Given the description of an element on the screen output the (x, y) to click on. 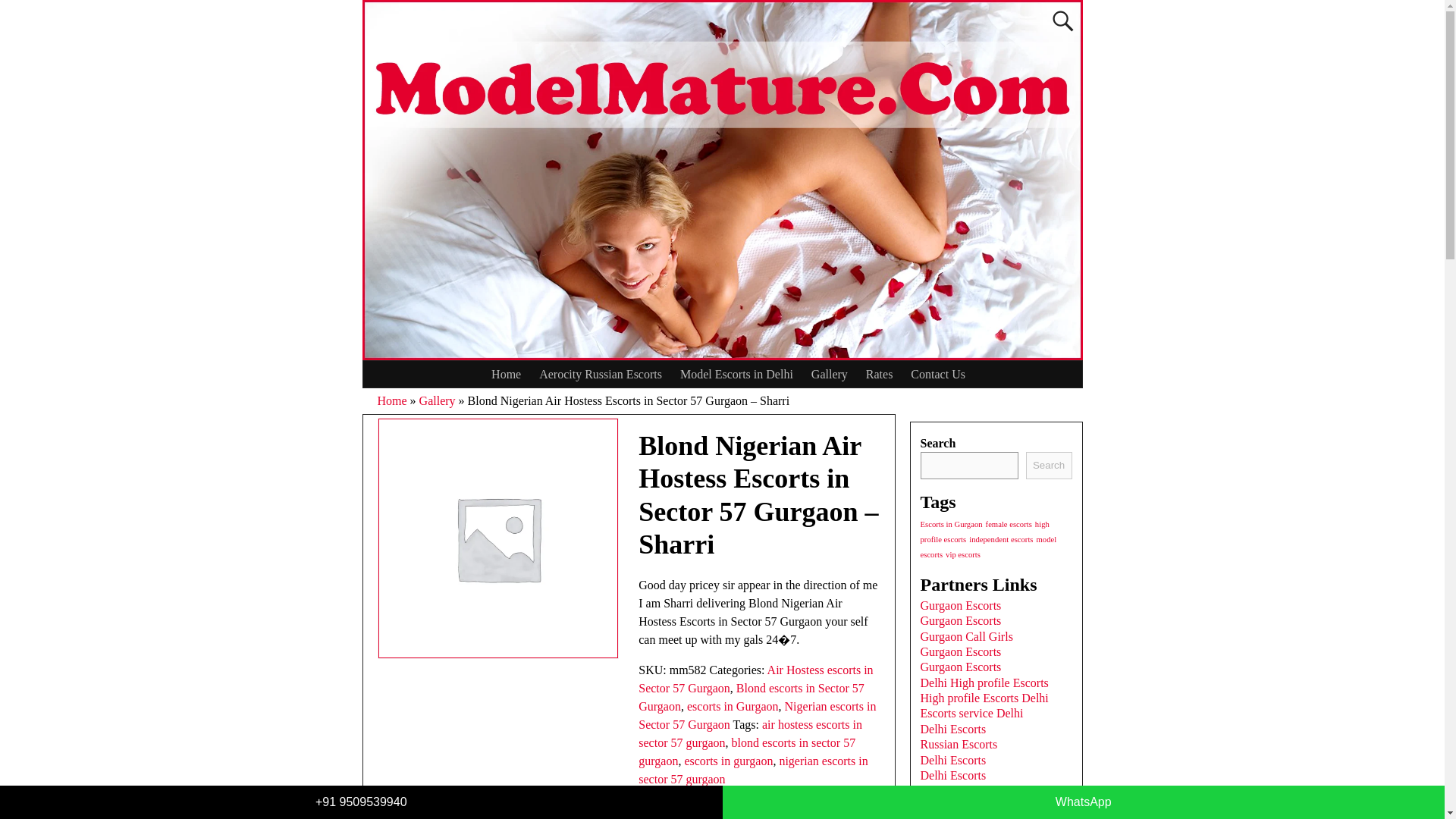
Home (505, 374)
nigerian escorts in sector 57 gurgaon (753, 769)
blond escorts in sector 57 gurgaon (747, 751)
escorts in gurgaon (728, 760)
Rates (879, 374)
Gallery (437, 400)
Aerocity Russian Escorts (600, 374)
Description (428, 816)
air hostess escorts in sector 57 gurgaon (750, 733)
Nigerian escorts in Sector 57 Gurgaon (757, 715)
